Given the description of an element on the screen output the (x, y) to click on. 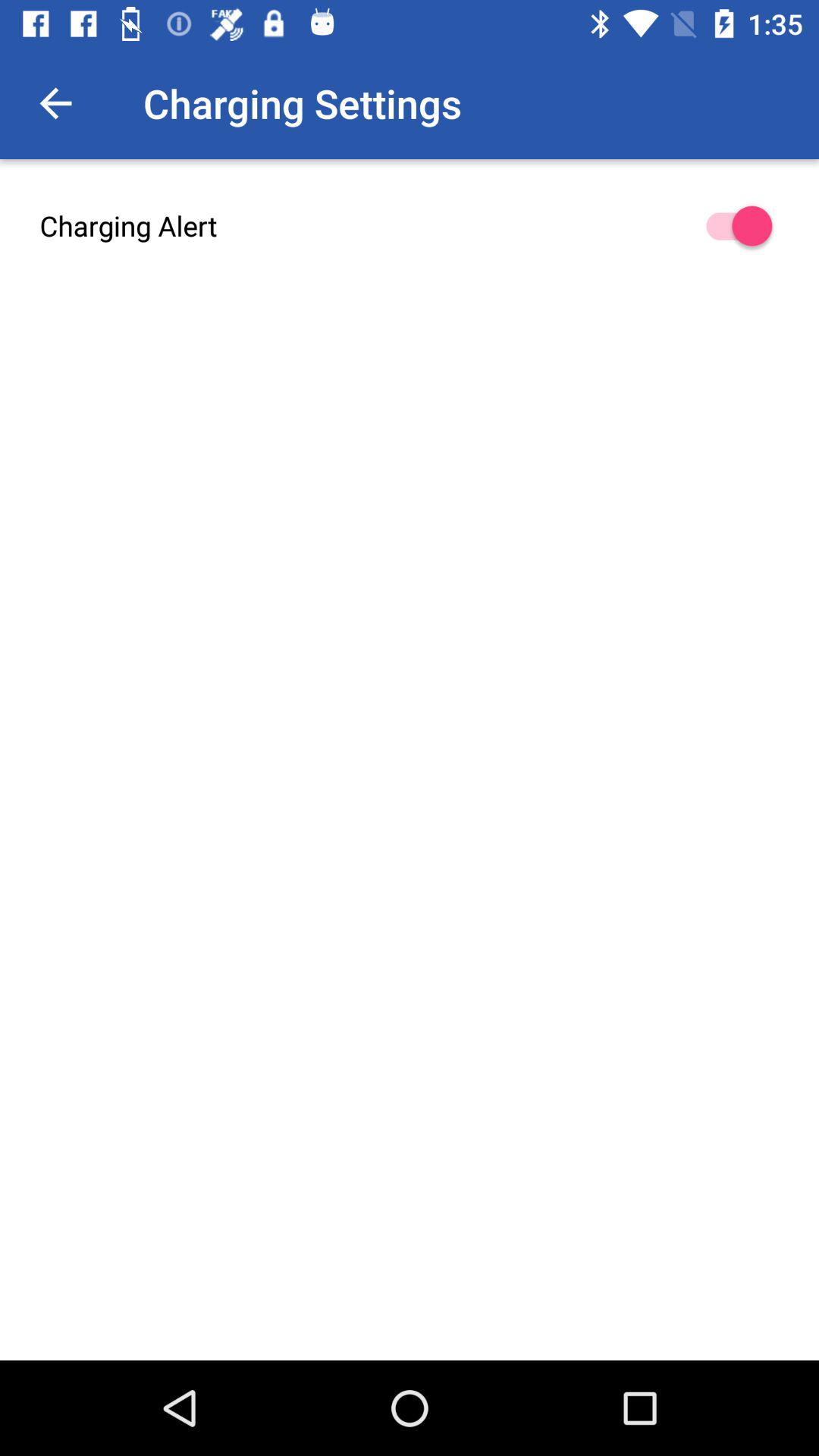
tap the icon at the top left corner (55, 103)
